Given the description of an element on the screen output the (x, y) to click on. 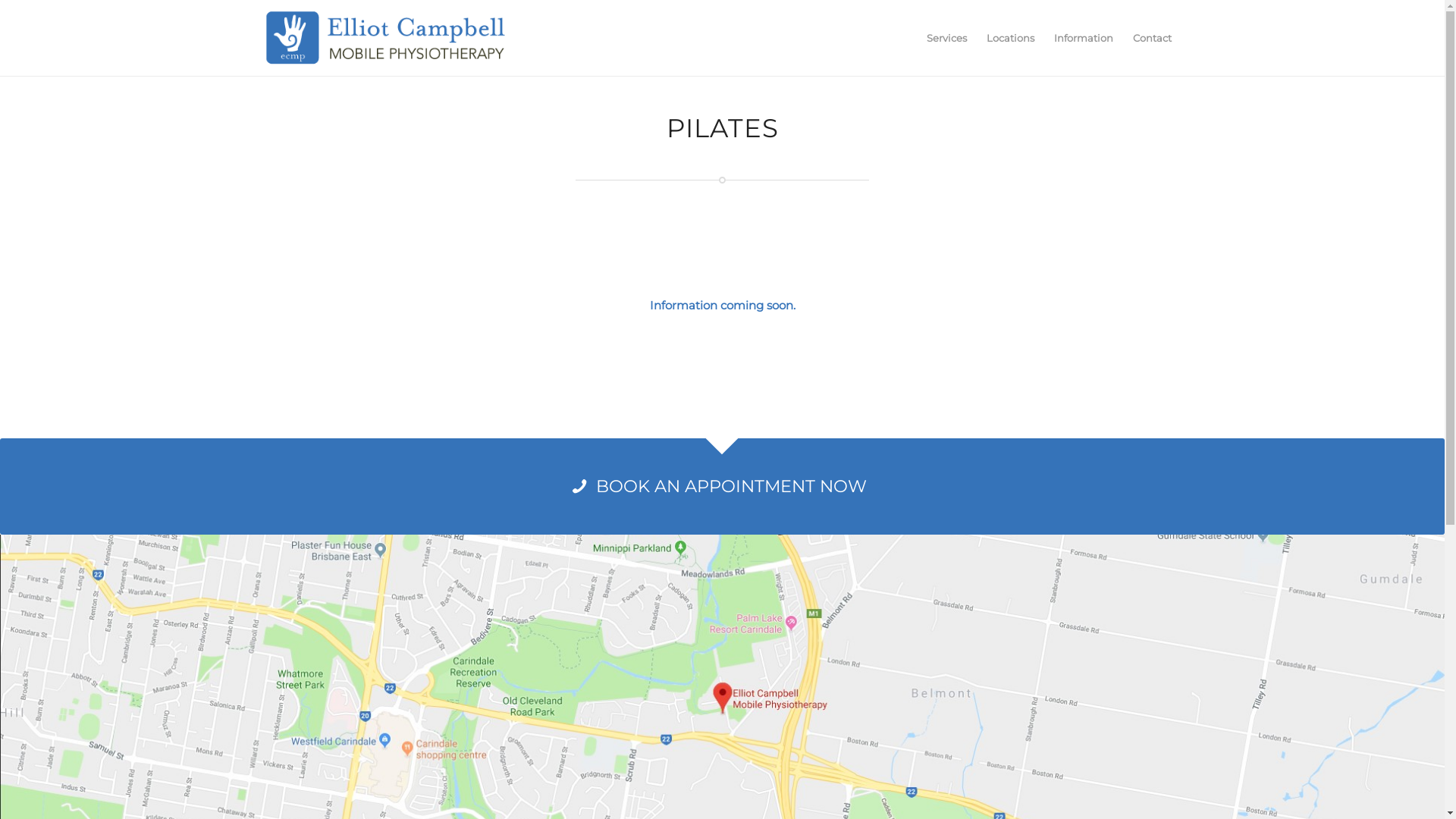
BOOK AN APPOINTMENT NOW Element type: text (722, 486)
Contact Element type: text (1151, 37)
Information Element type: text (1082, 37)
Services Element type: text (945, 37)
Locations Element type: text (1010, 37)
